Given the description of an element on the screen output the (x, y) to click on. 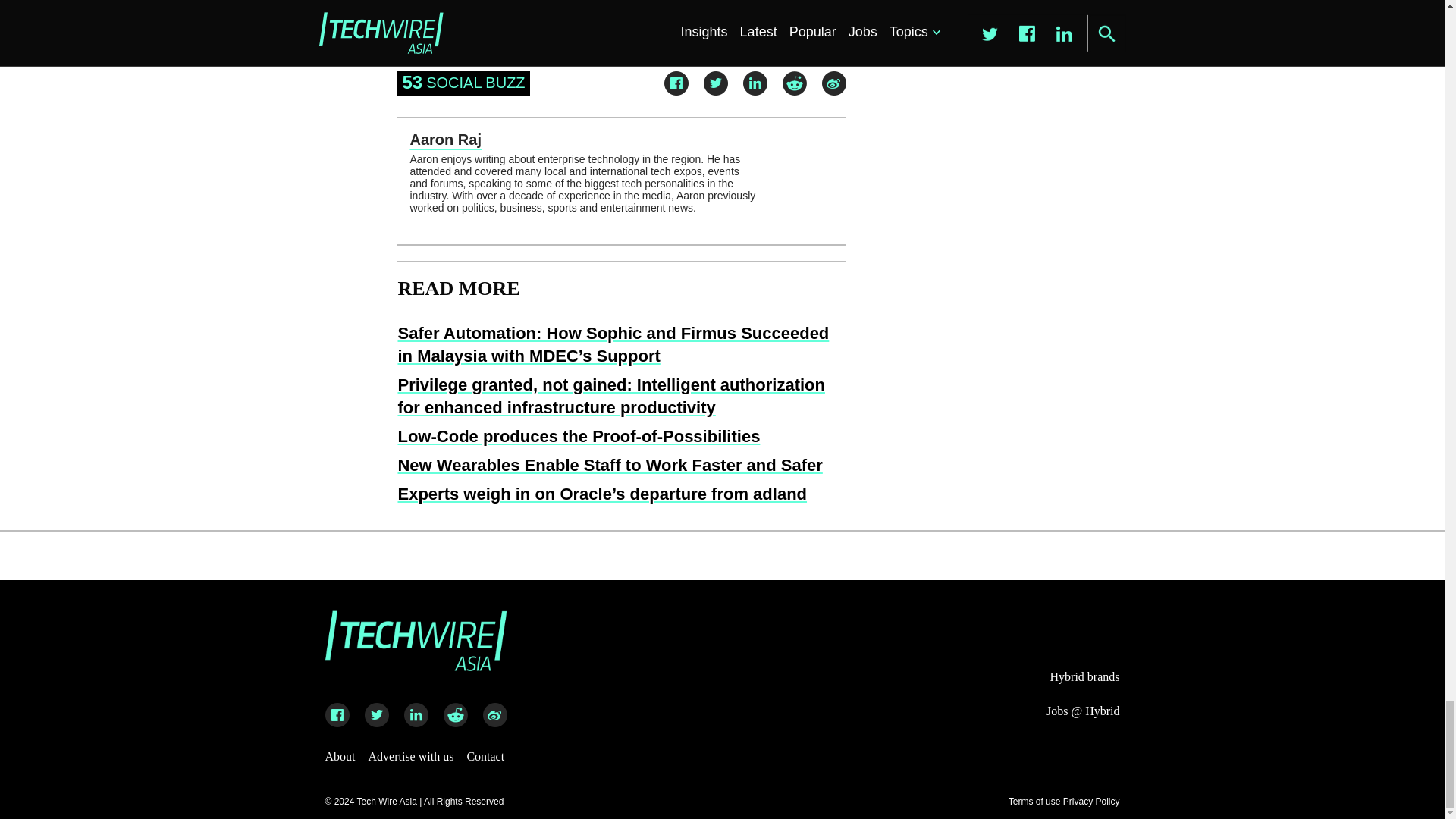
Posts by Aaron Raj (444, 139)
